Given the description of an element on the screen output the (x, y) to click on. 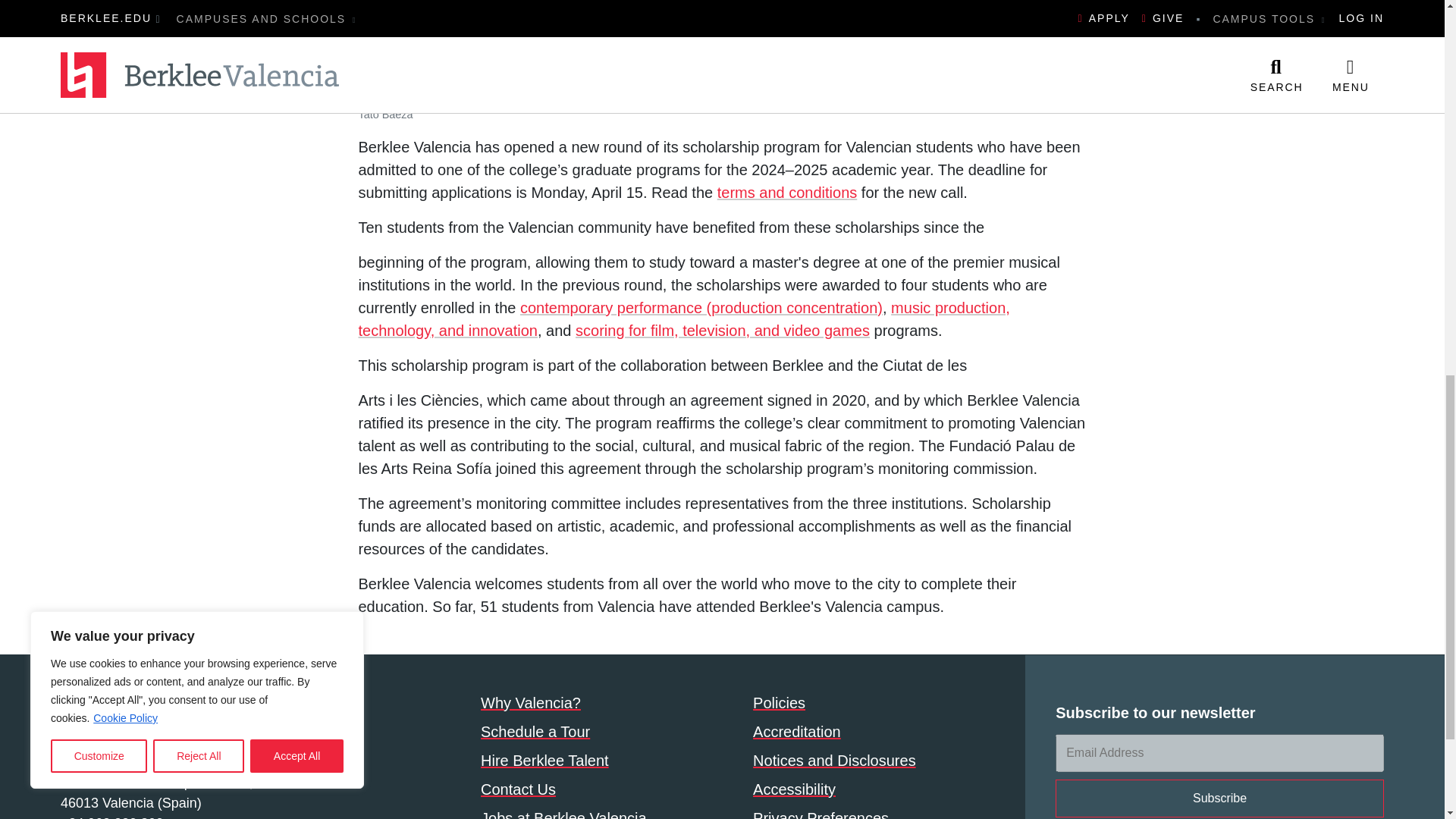
Subscribe (1219, 798)
